Given the description of an element on the screen output the (x, y) to click on. 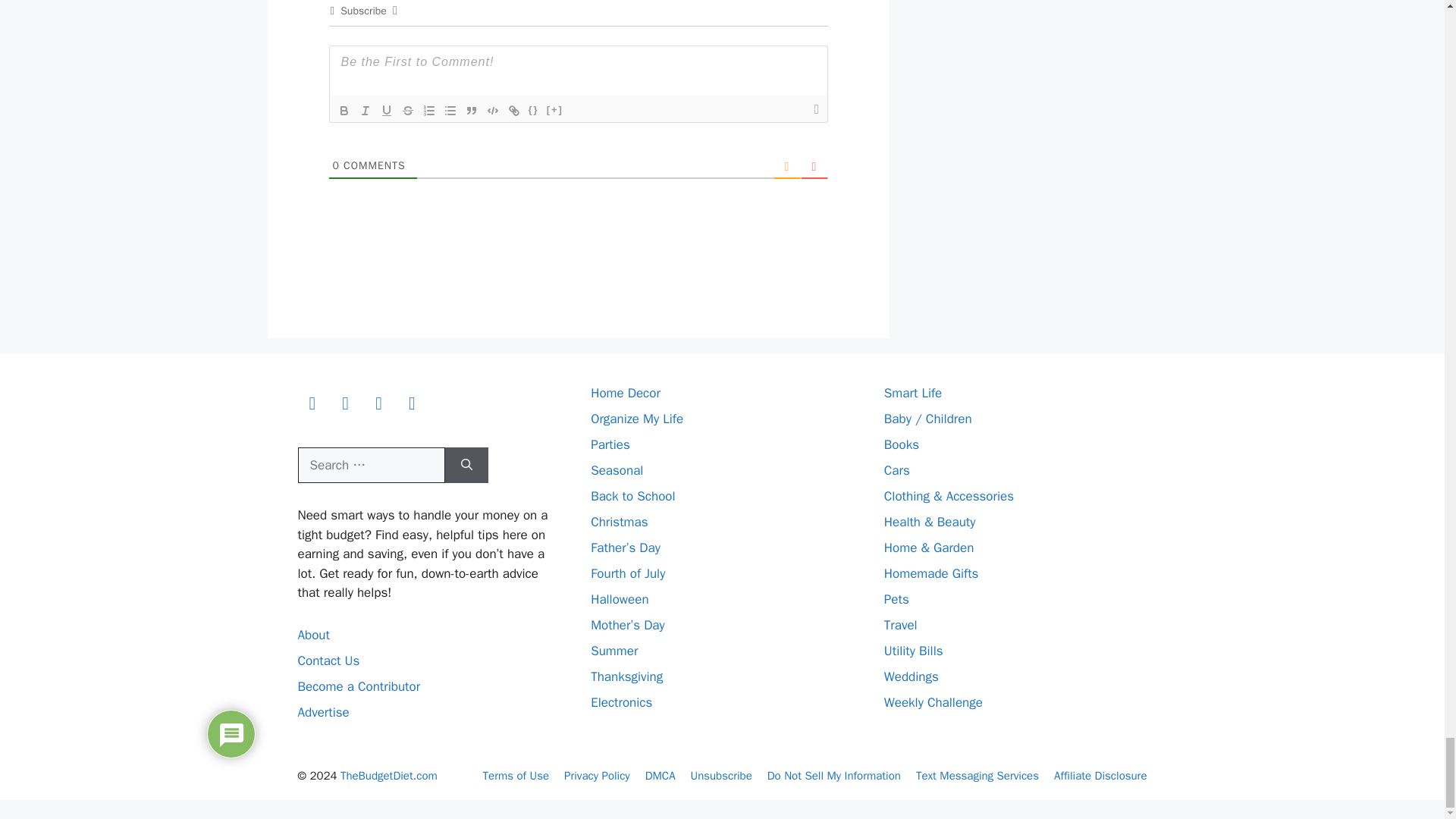
Ordered List (429, 110)
Underline (386, 110)
Bold (344, 110)
Italic (365, 110)
Strike (408, 110)
